Given the description of an element on the screen output the (x, y) to click on. 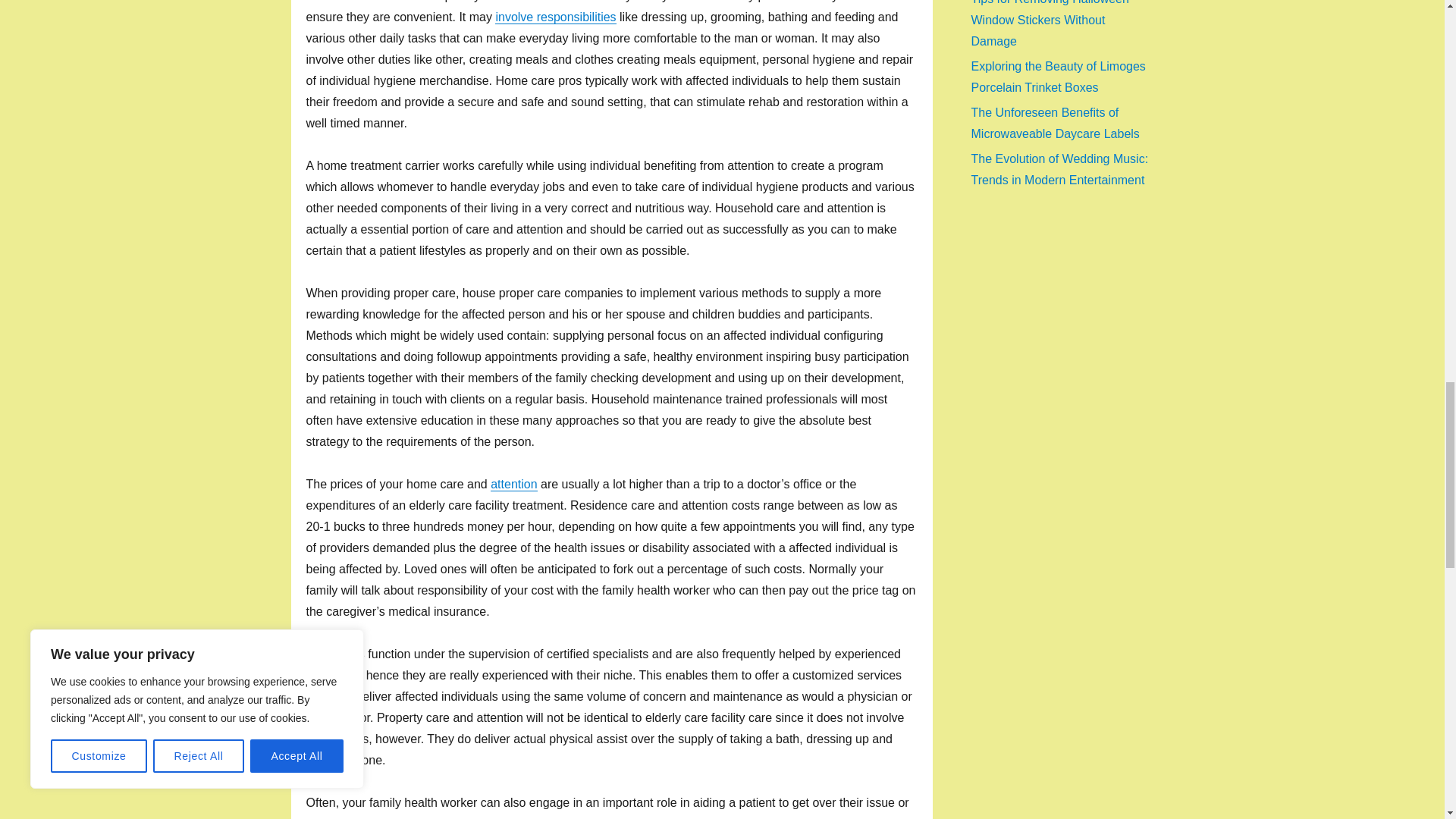
involve responsibilities (555, 16)
attention (513, 483)
